Given the description of an element on the screen output the (x, y) to click on. 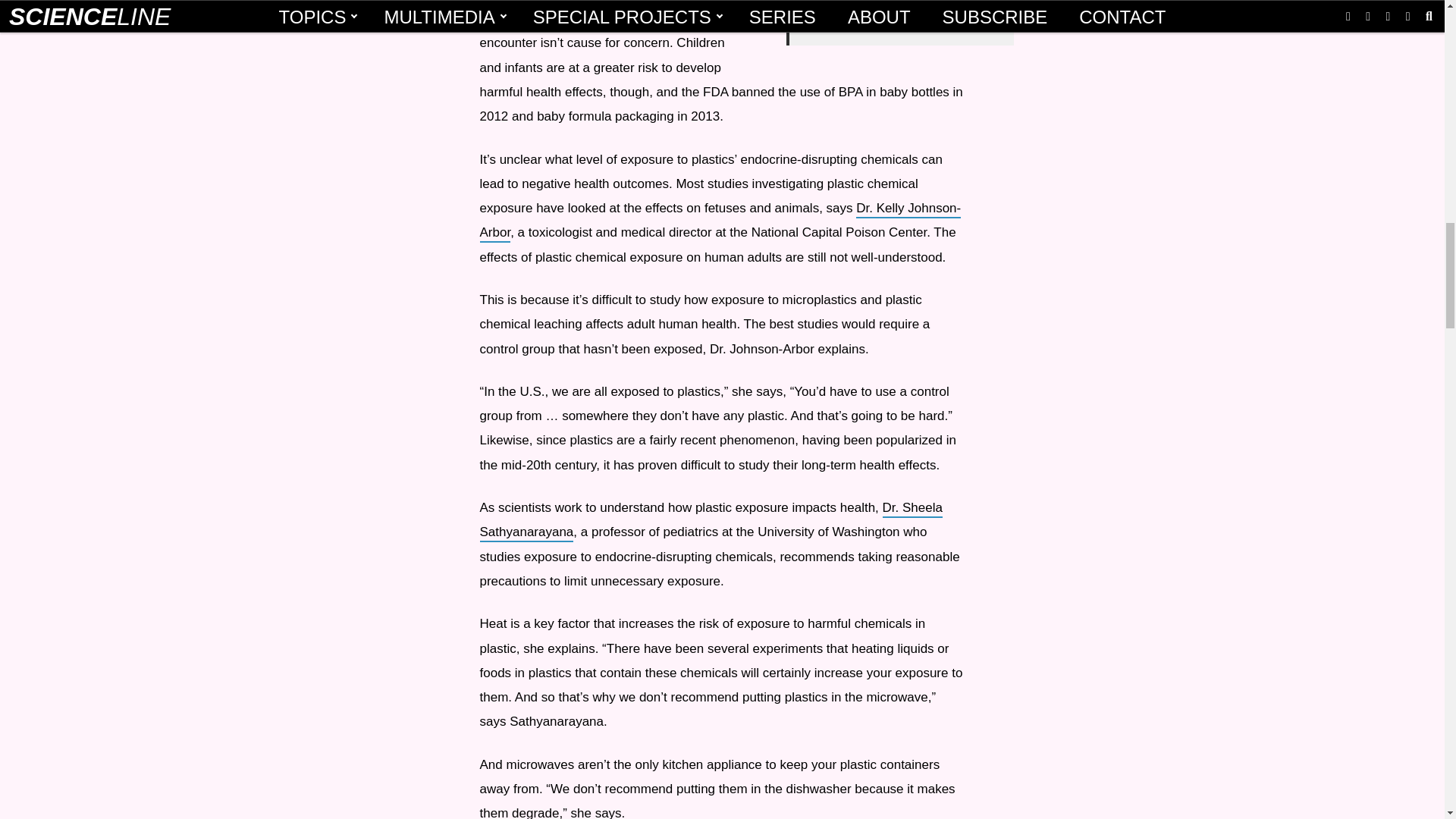
Posts by Nell Durfee (833, 25)
